Given the description of an element on the screen output the (x, y) to click on. 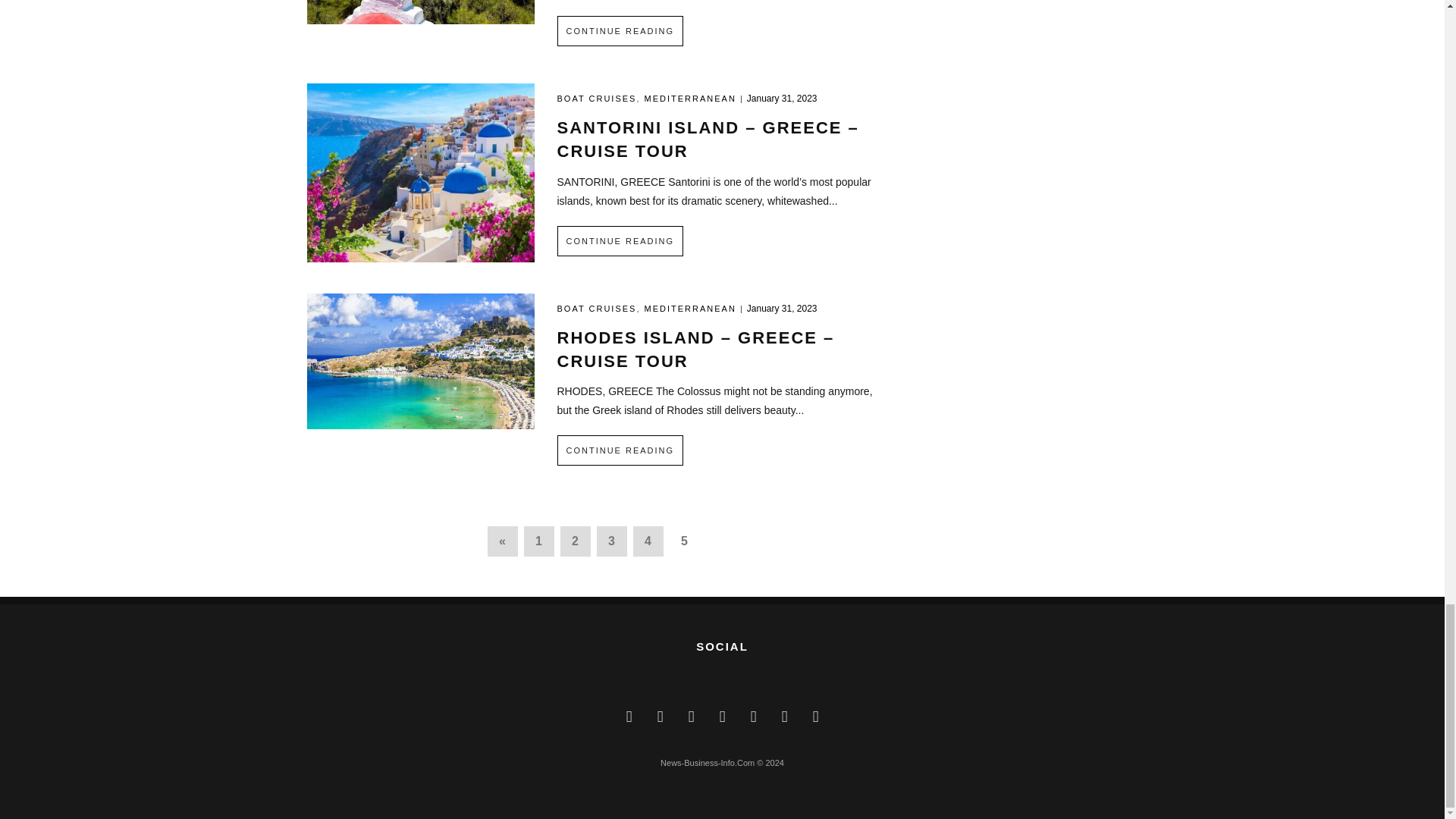
Rhodes Island - Greece - Cruise Tour (419, 359)
Santorini Island - Greece - Cruise Tour (419, 171)
Page 4 (646, 541)
Page 2 (574, 541)
CONTINUE READING (619, 30)
Page 1 (537, 541)
Page 3 (610, 541)
